Given the description of an element on the screen output the (x, y) to click on. 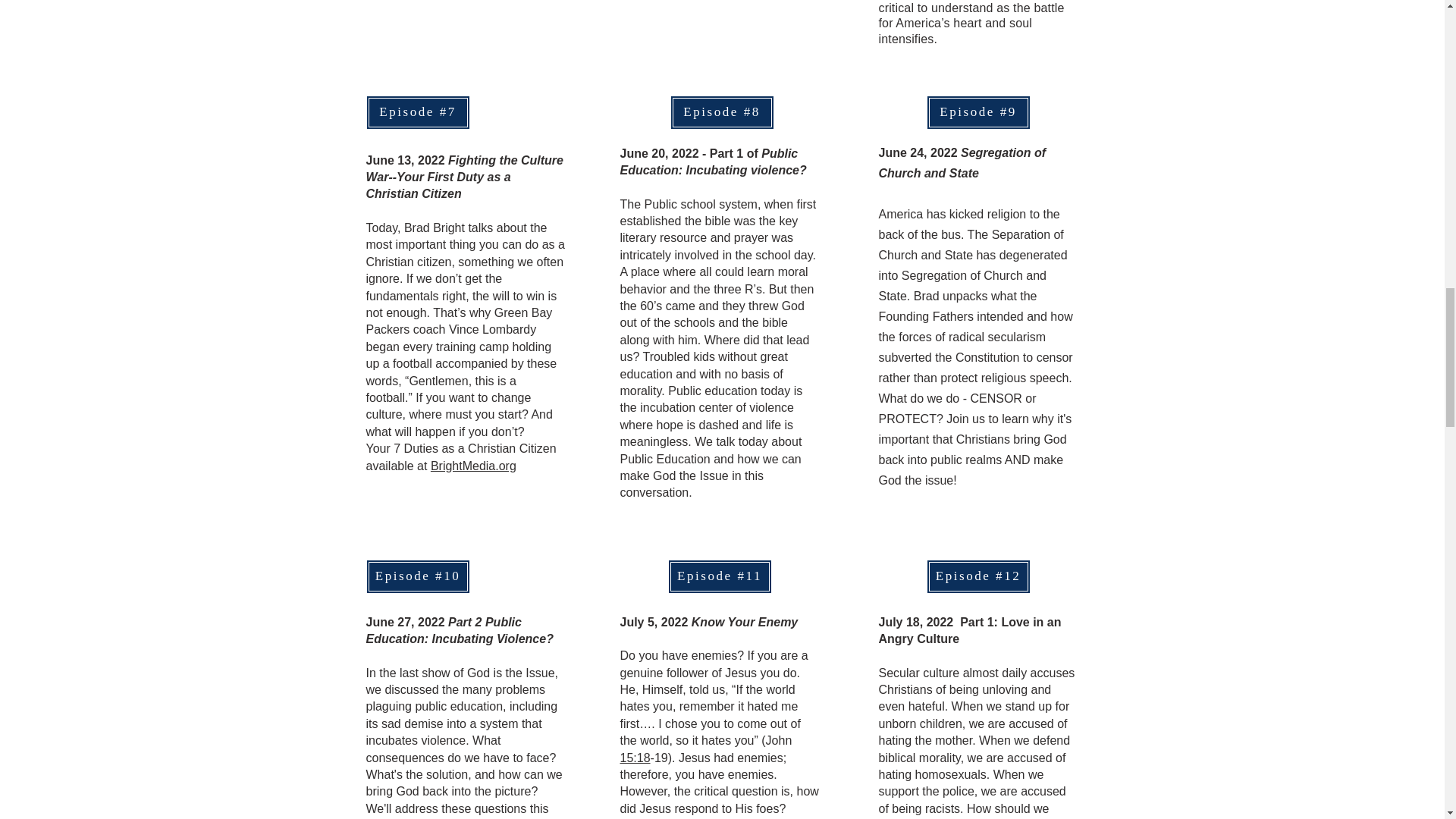
BrightMedia.org (473, 465)
15:18 (635, 757)
